Given the description of an element on the screen output the (x, y) to click on. 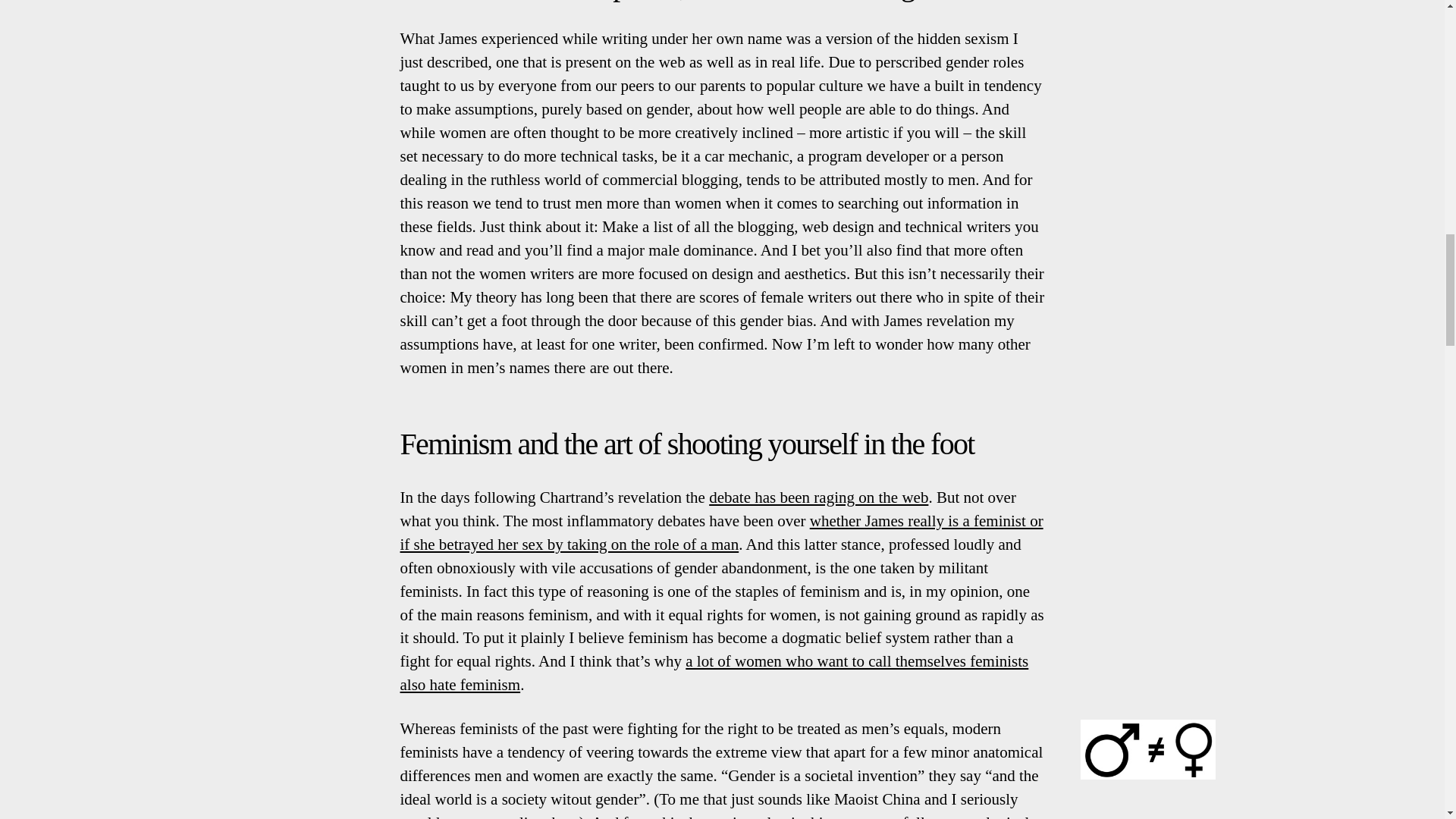
Newsweek blog article on James Chartrand (818, 497)
debate has been raging on the web (818, 497)
male not equal to female (1147, 749)
Taylor's a feminist - and so is James (714, 672)
